Given the description of an element on the screen output the (x, y) to click on. 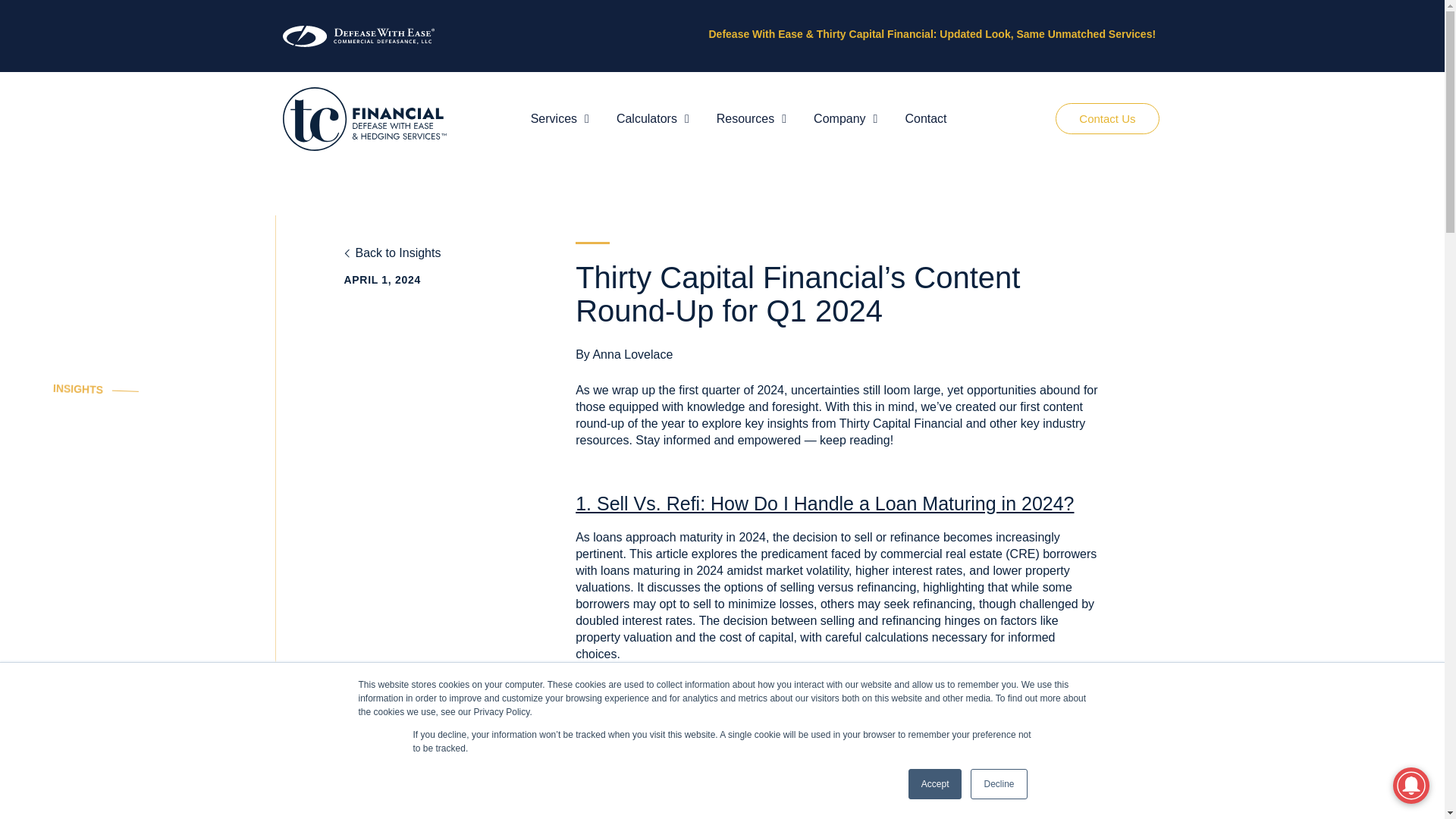
Calculators (651, 118)
Accept (935, 784)
Services (560, 118)
Resources (751, 118)
Decline (998, 784)
Company (845, 118)
Contact (925, 118)
